Given the description of an element on the screen output the (x, y) to click on. 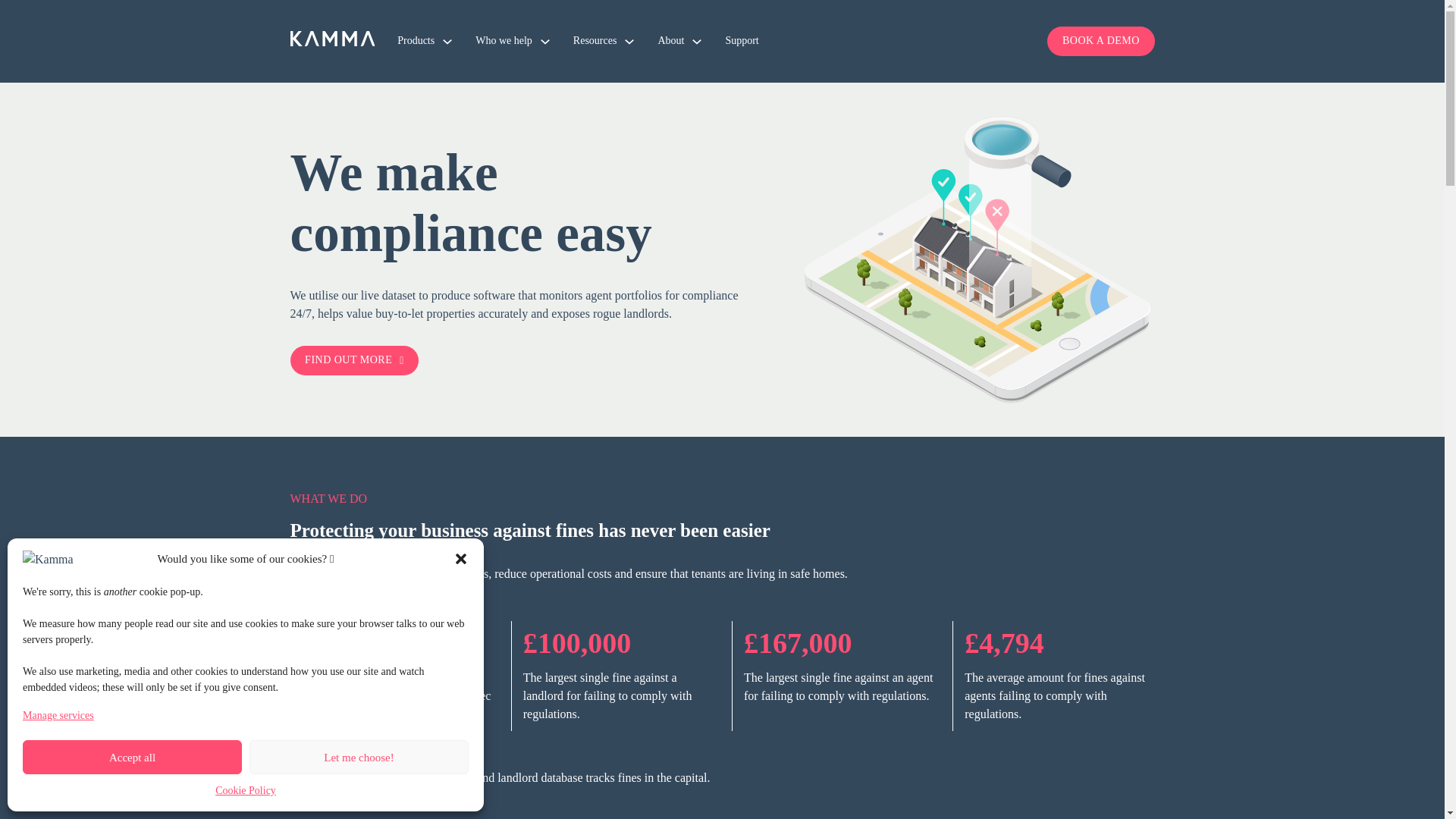
Kamma (331, 41)
Resources (595, 40)
Kamma (331, 38)
Who we help (504, 40)
Products (415, 40)
Let me choose! (358, 756)
Cookie Policy (245, 791)
Accept all (132, 756)
Manage services (58, 715)
